Given the description of an element on the screen output the (x, y) to click on. 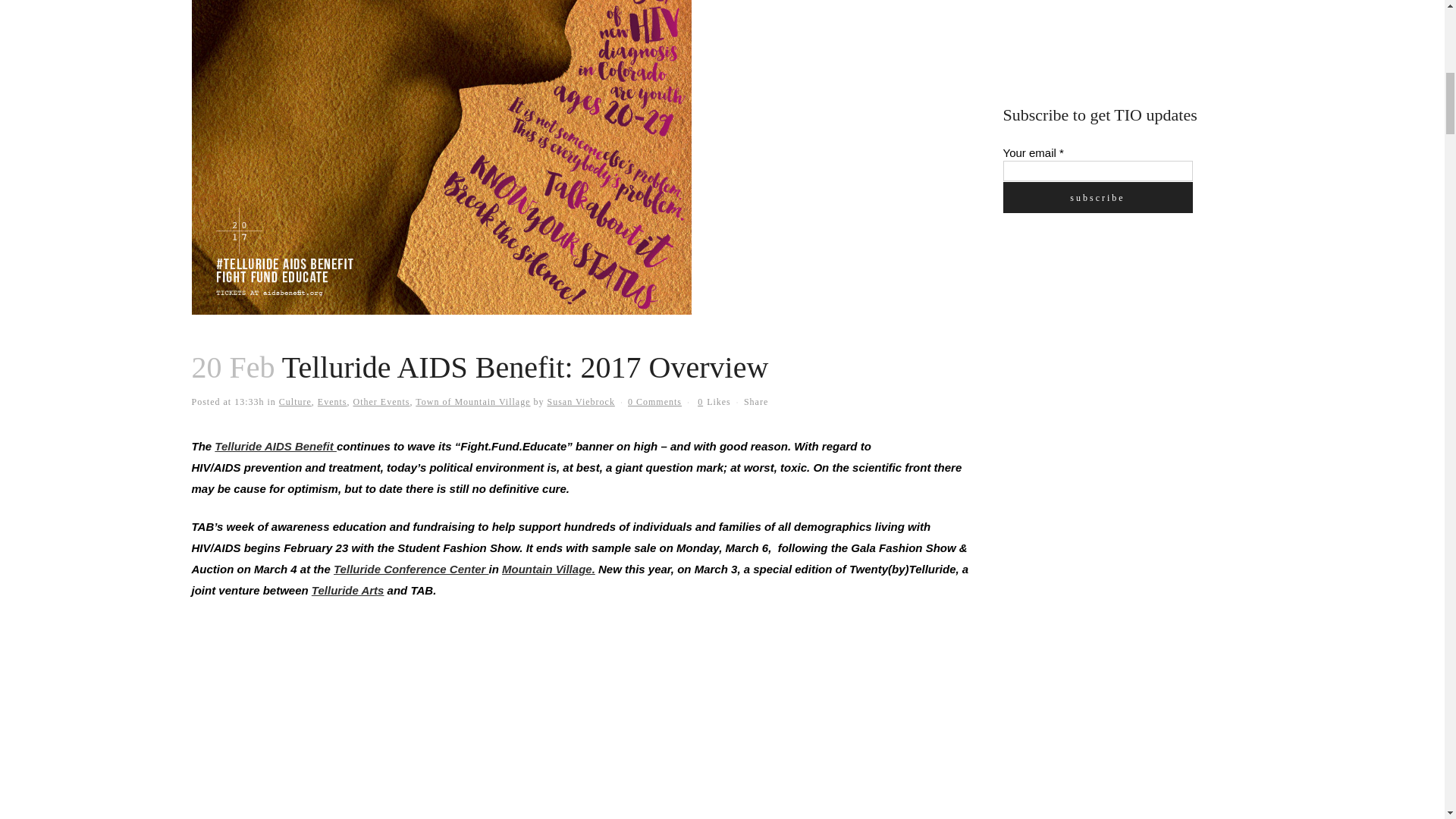
3rd party ad content (1116, 35)
Telluride AIDS Benefit (275, 445)
Like this (713, 401)
Your email (1097, 170)
Subscribe (1097, 196)
3rd party ad content (1116, 339)
